Given the description of an element on the screen output the (x, y) to click on. 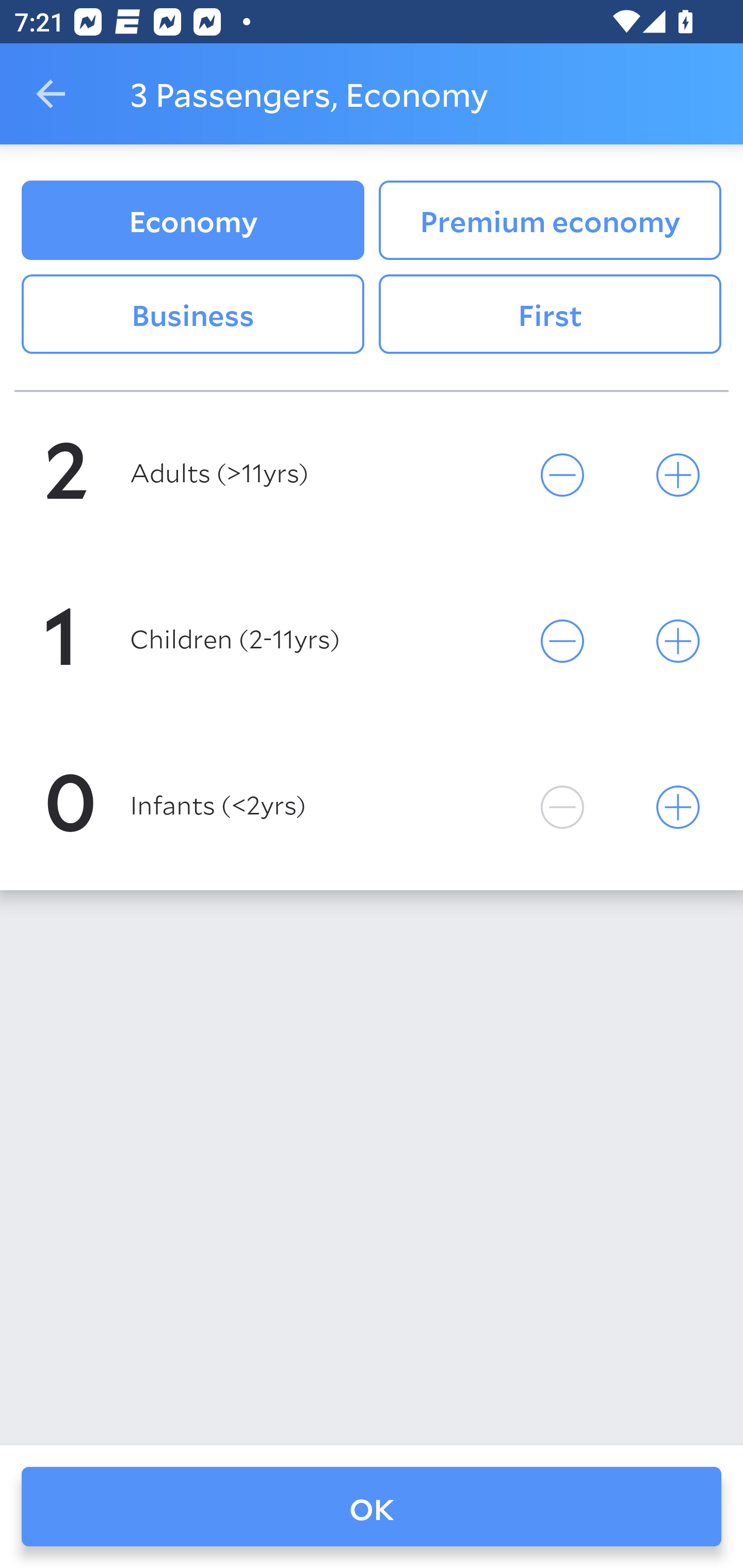
Navigate up (50, 93)
Economy (192, 220)
Premium economy (549, 220)
Business (192, 314)
First (549, 314)
OK (371, 1506)
